Given the description of an element on the screen output the (x, y) to click on. 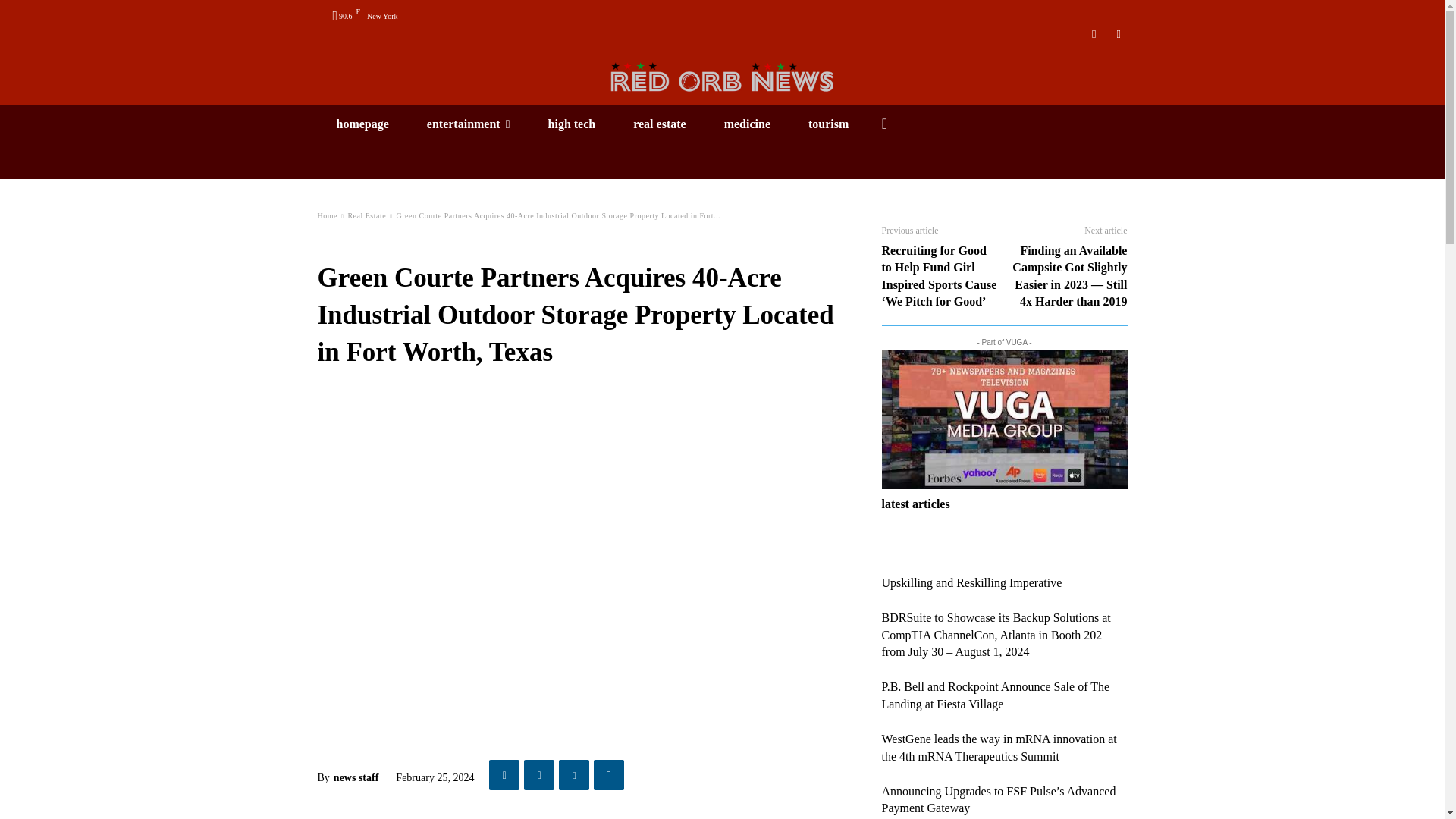
Red Orb News (721, 77)
Facebook (1117, 34)
tourism (828, 123)
medicine (746, 123)
real estate (659, 123)
homepage (362, 123)
high tech (571, 123)
Instagram (1094, 34)
entertainment (468, 123)
Red Orb News (721, 77)
